Given the description of an element on the screen output the (x, y) to click on. 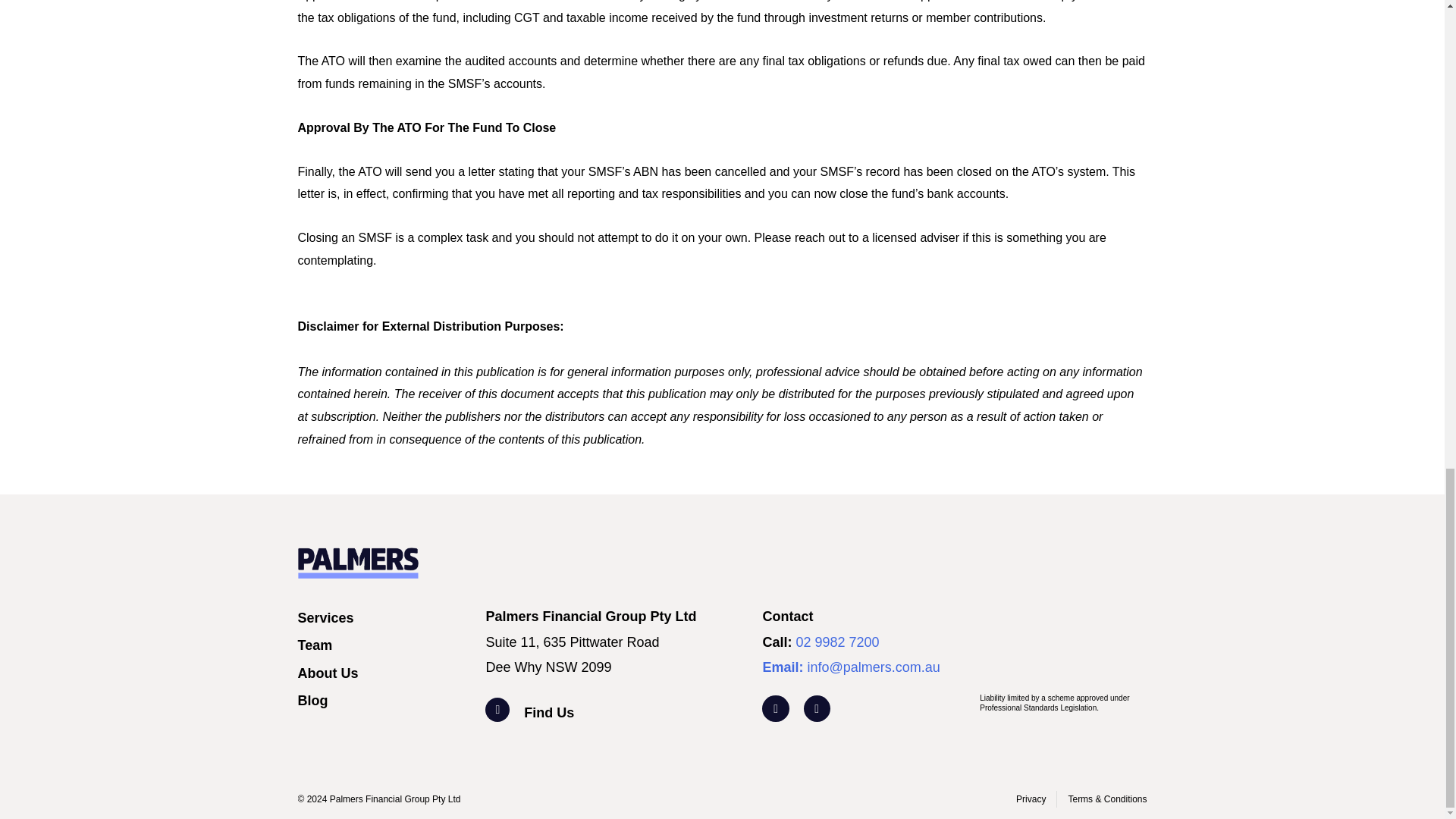
Map-marker-alt (496, 709)
Blog (383, 700)
02 9982 7200 (836, 642)
Services (383, 618)
Find Us (635, 713)
Team (383, 645)
About Us (383, 673)
